Given the description of an element on the screen output the (x, y) to click on. 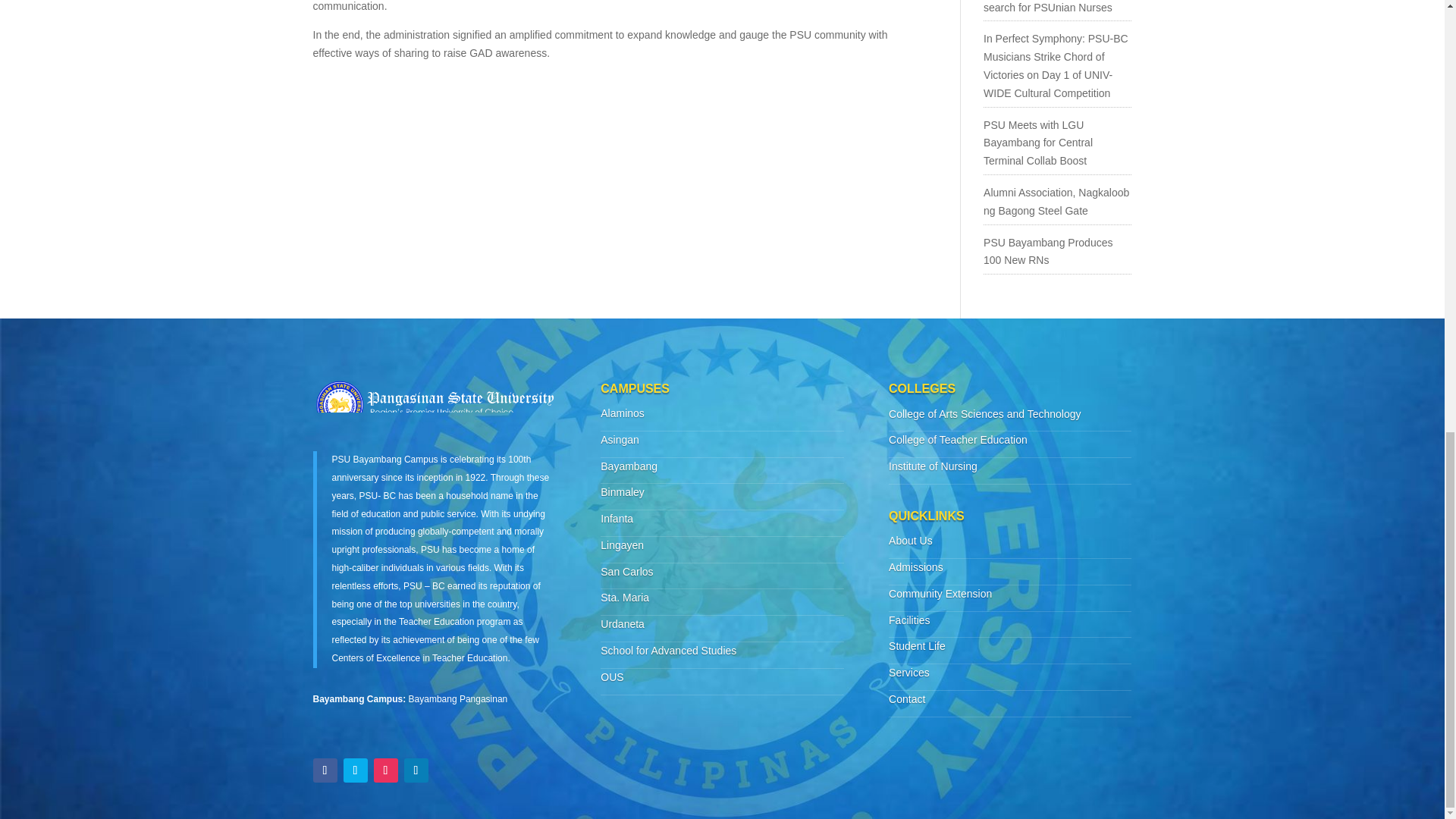
Pangasinan State University San Carlos Campus (625, 571)
Pangasinan State University Infanta Campus (616, 518)
Pangasinan State University Sta Maria Campus (624, 597)
Pangasinan State University Urdaneta Campus (622, 623)
Pangasinan State University Binmaley Campus (622, 491)
Pangasinan State University School for Advanced Studies (667, 650)
Pangasinan State University Alaminos Campus (622, 413)
Pangasinan State University Lingayen Campus (621, 544)
PSU LABEL 2 (433, 404)
Pangasinan State University Bayambang Campus (628, 465)
